Given the description of an element on the screen output the (x, y) to click on. 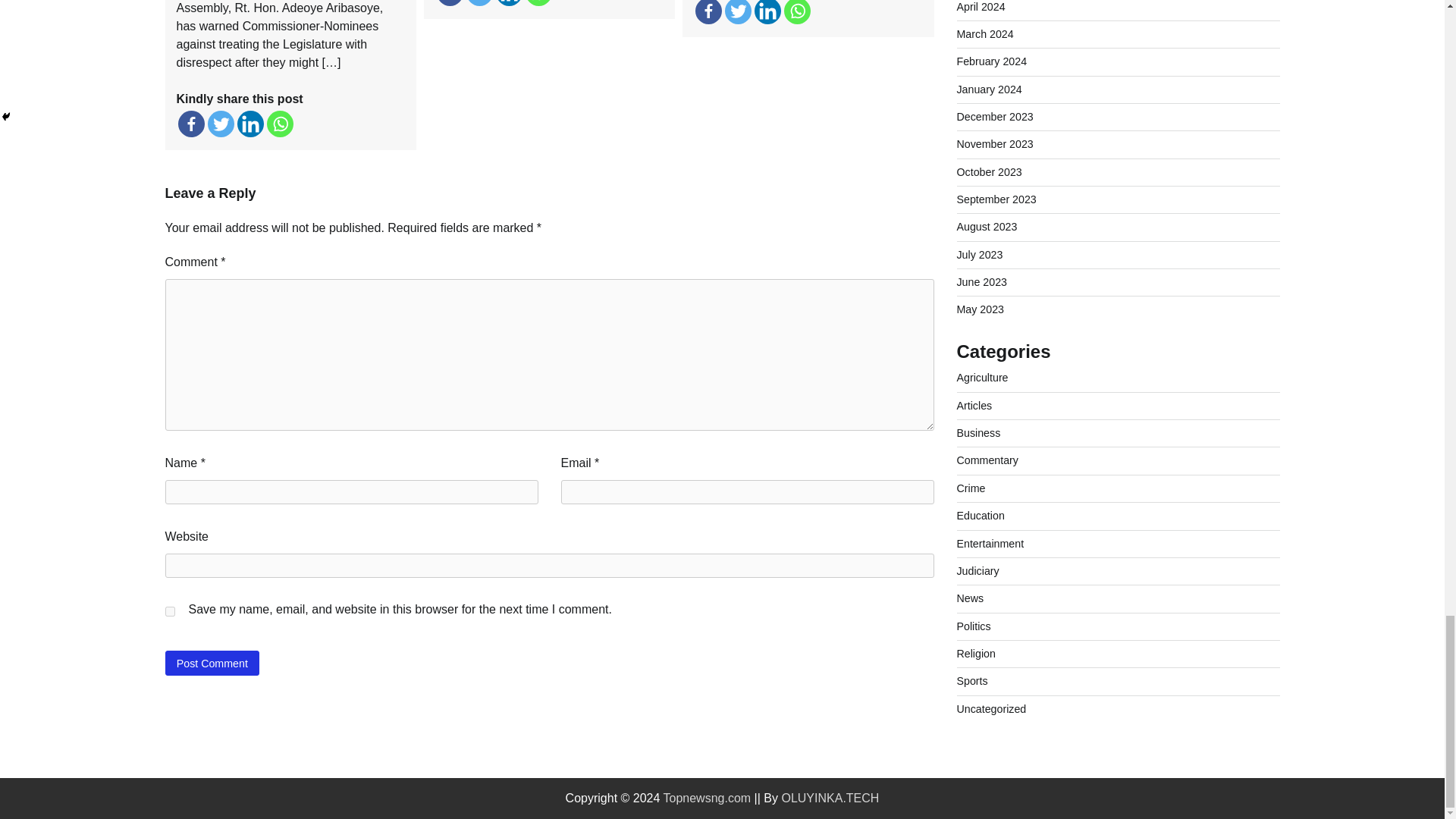
yes (169, 611)
Post Comment (212, 662)
